Given the description of an element on the screen output the (x, y) to click on. 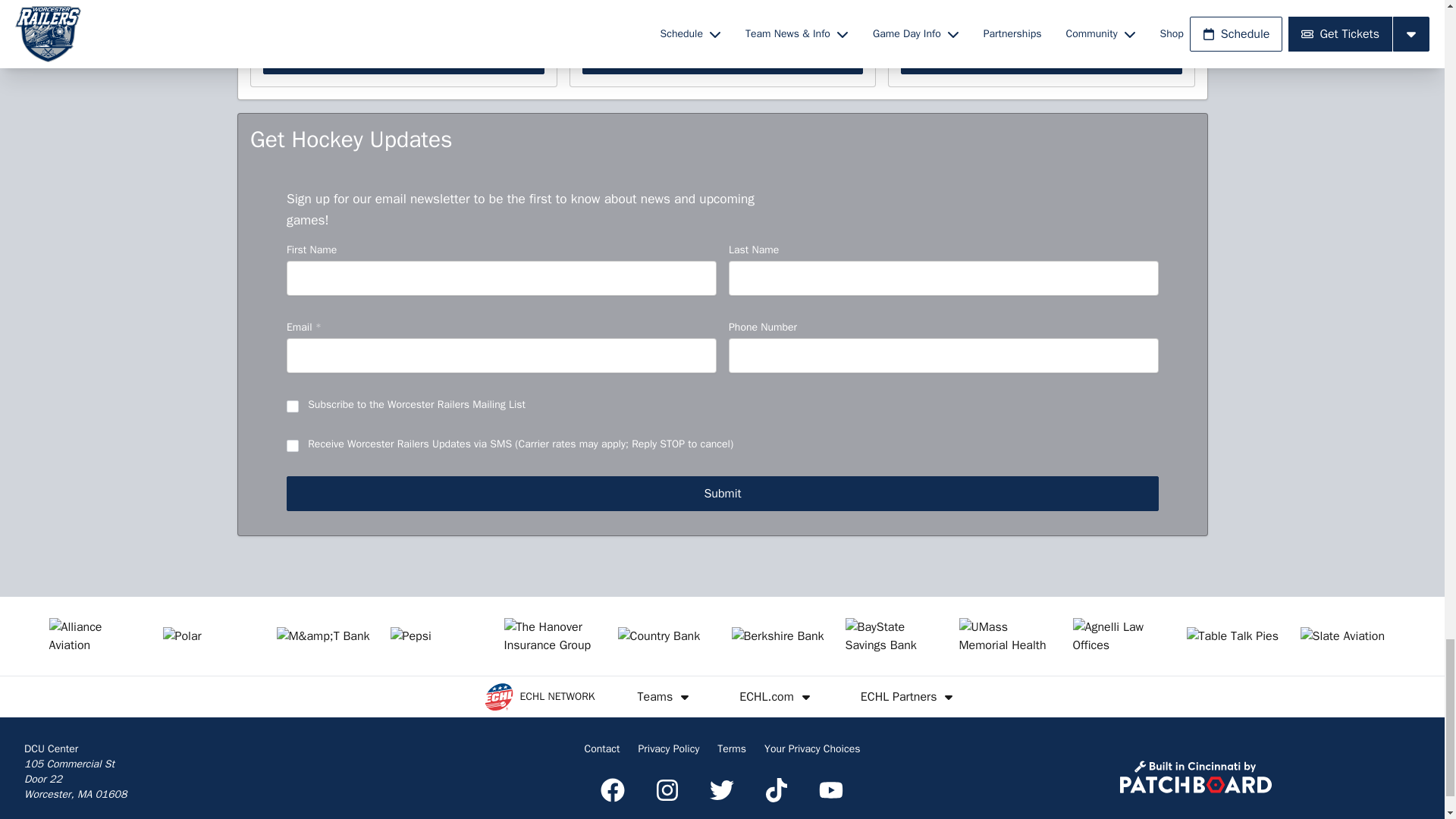
Facebook (612, 790)
TikTok (776, 790)
Built in Cincinnati by Patchboard (1195, 776)
Instagram (667, 790)
on (292, 406)
Twitter (721, 790)
YouTube (830, 790)
on (292, 445)
